Given the description of an element on the screen output the (x, y) to click on. 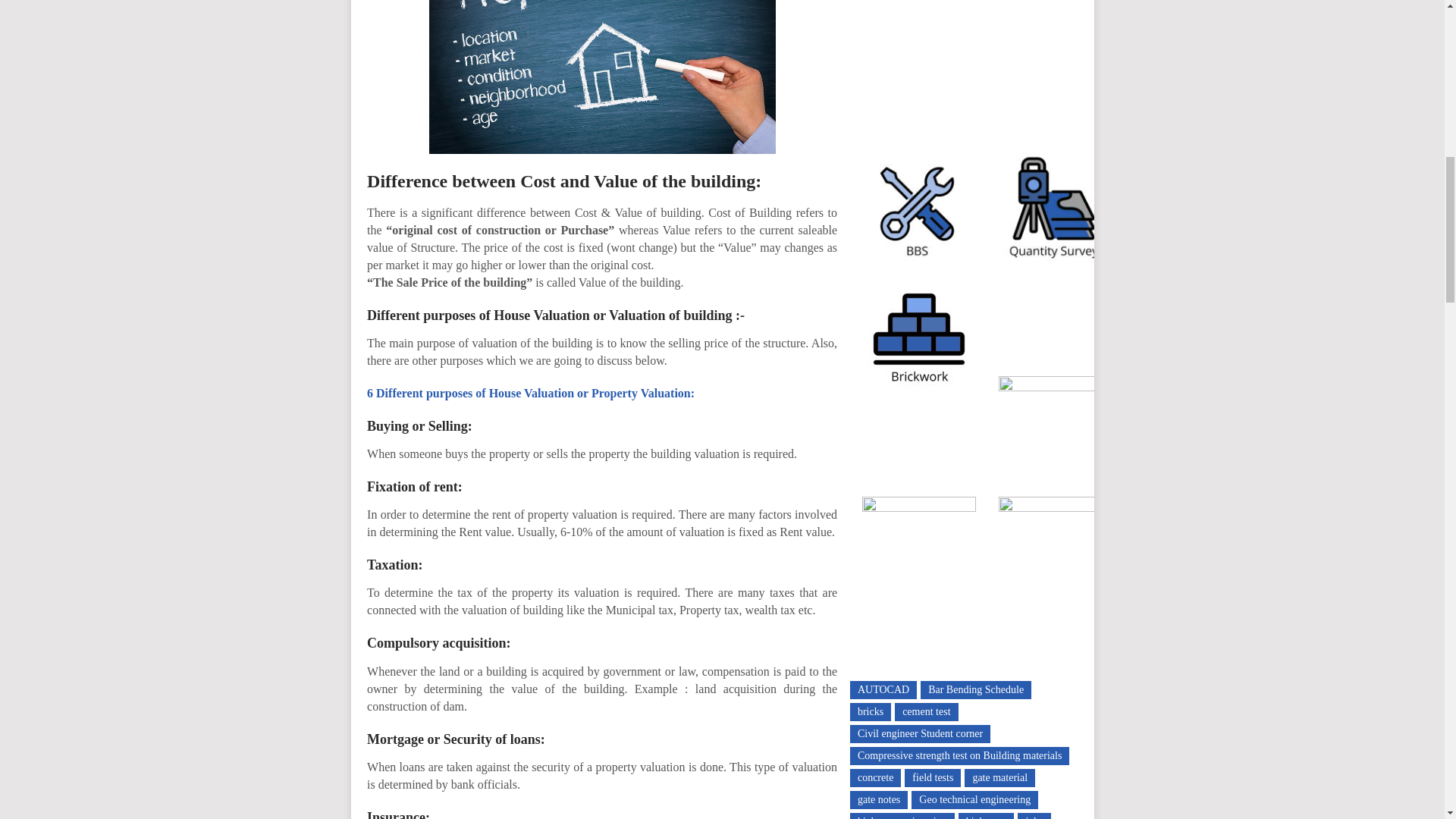
valuation of building (602, 76)
